Given the description of an element on the screen output the (x, y) to click on. 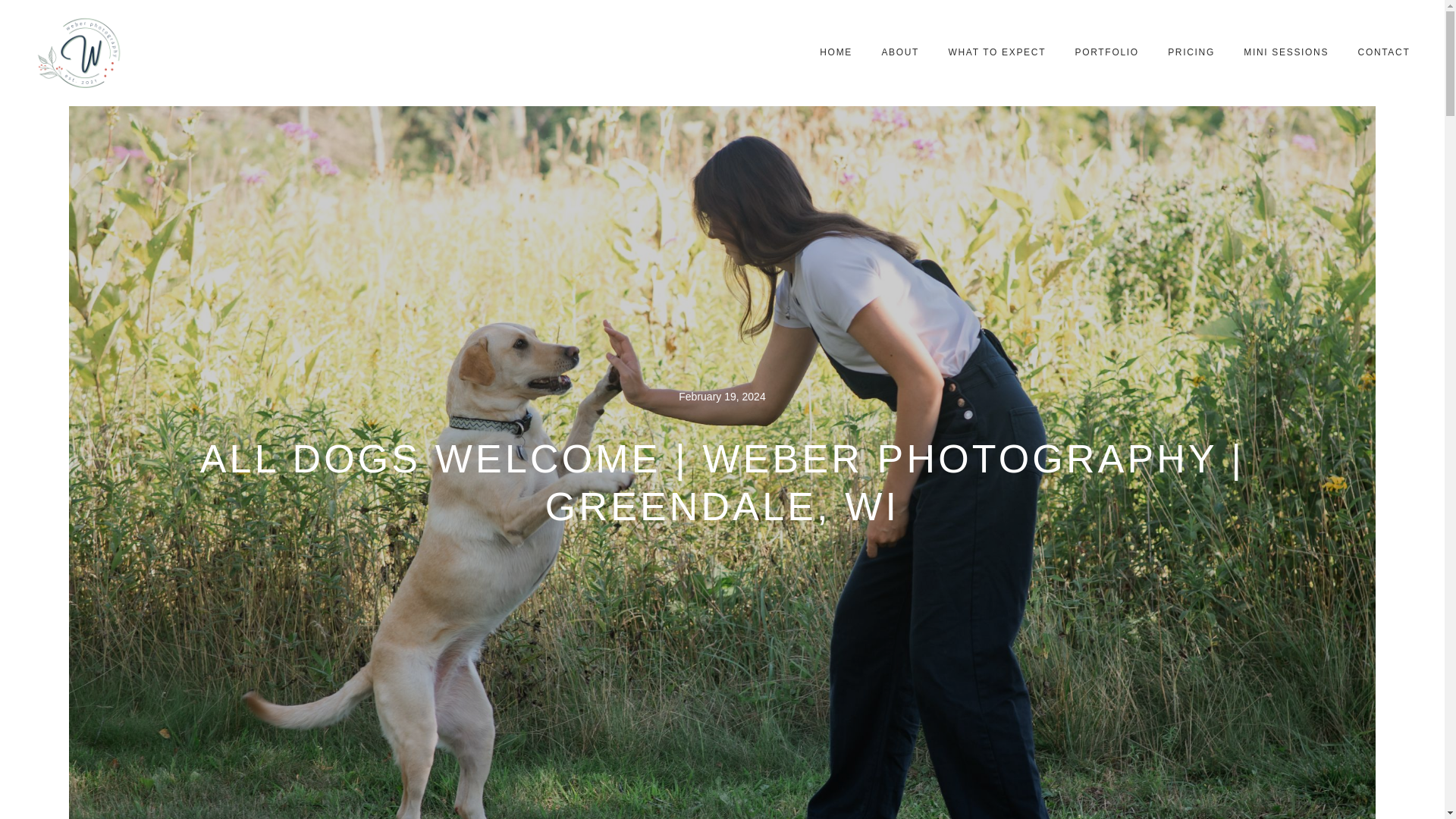
ABOUT (899, 52)
HOME (835, 52)
PORTFOLIO (1106, 52)
PRICING (1190, 52)
WHAT TO EXPECT (996, 52)
CONTACT (1382, 52)
MINI SESSIONS (1285, 52)
